Given the description of an element on the screen output the (x, y) to click on. 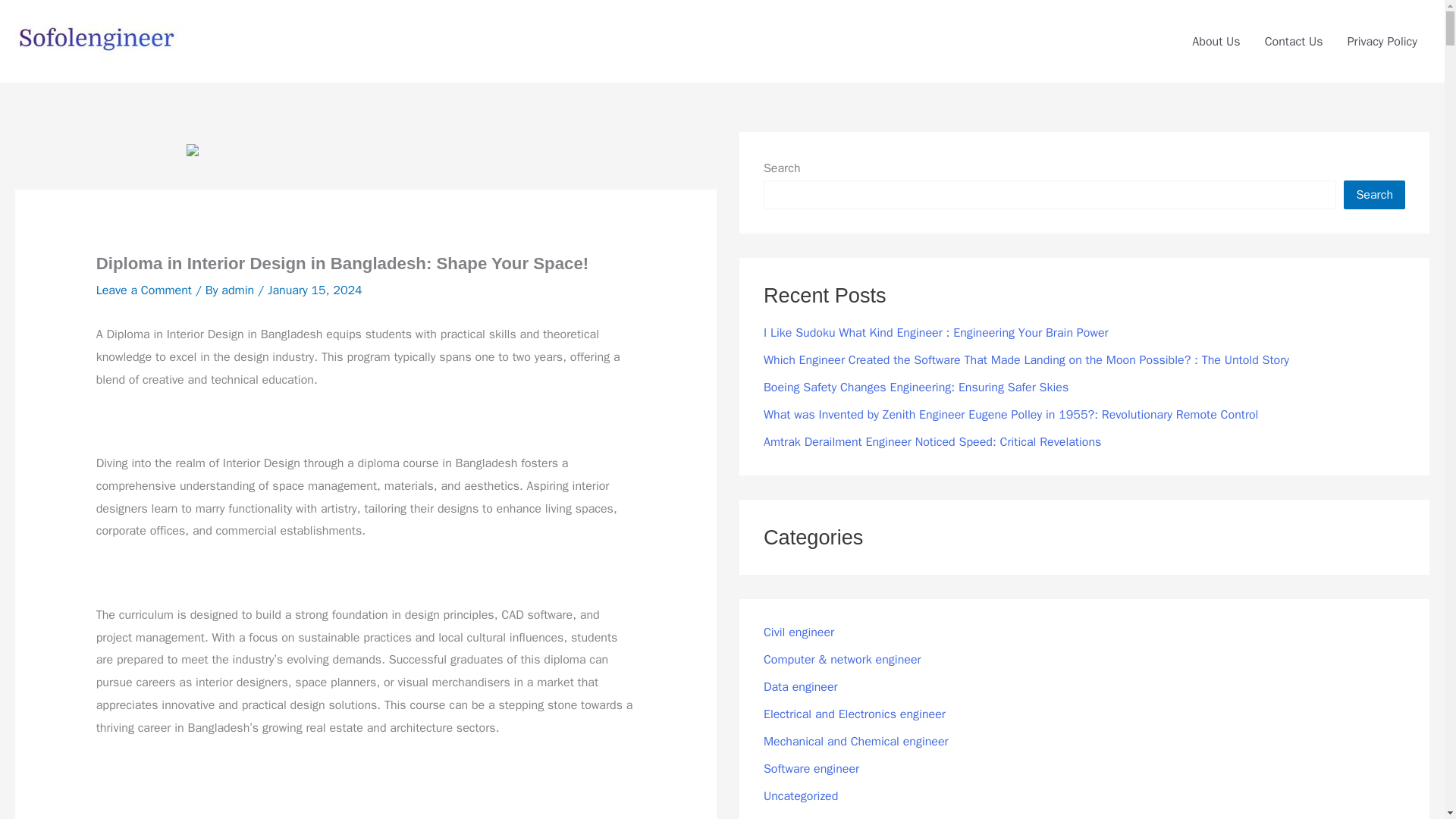
Contact Us (1293, 40)
admin (239, 290)
Leave a Comment (144, 290)
About Us (1215, 40)
Privacy Policy (1382, 40)
View all posts by admin (239, 290)
